Given the description of an element on the screen output the (x, y) to click on. 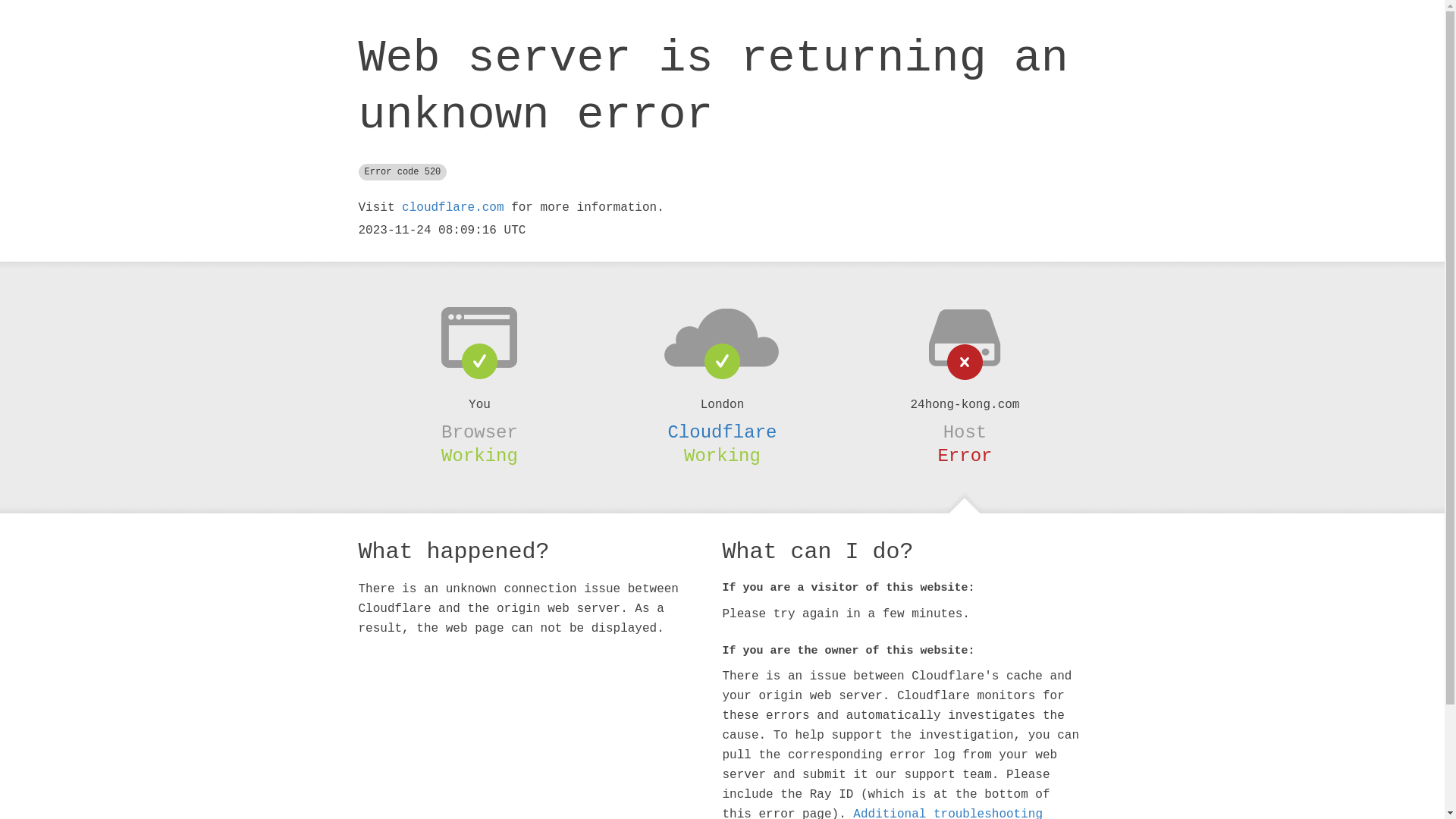
cloudflare.com Element type: text (452, 207)
Cloudflare Element type: text (721, 432)
